Given the description of an element on the screen output the (x, y) to click on. 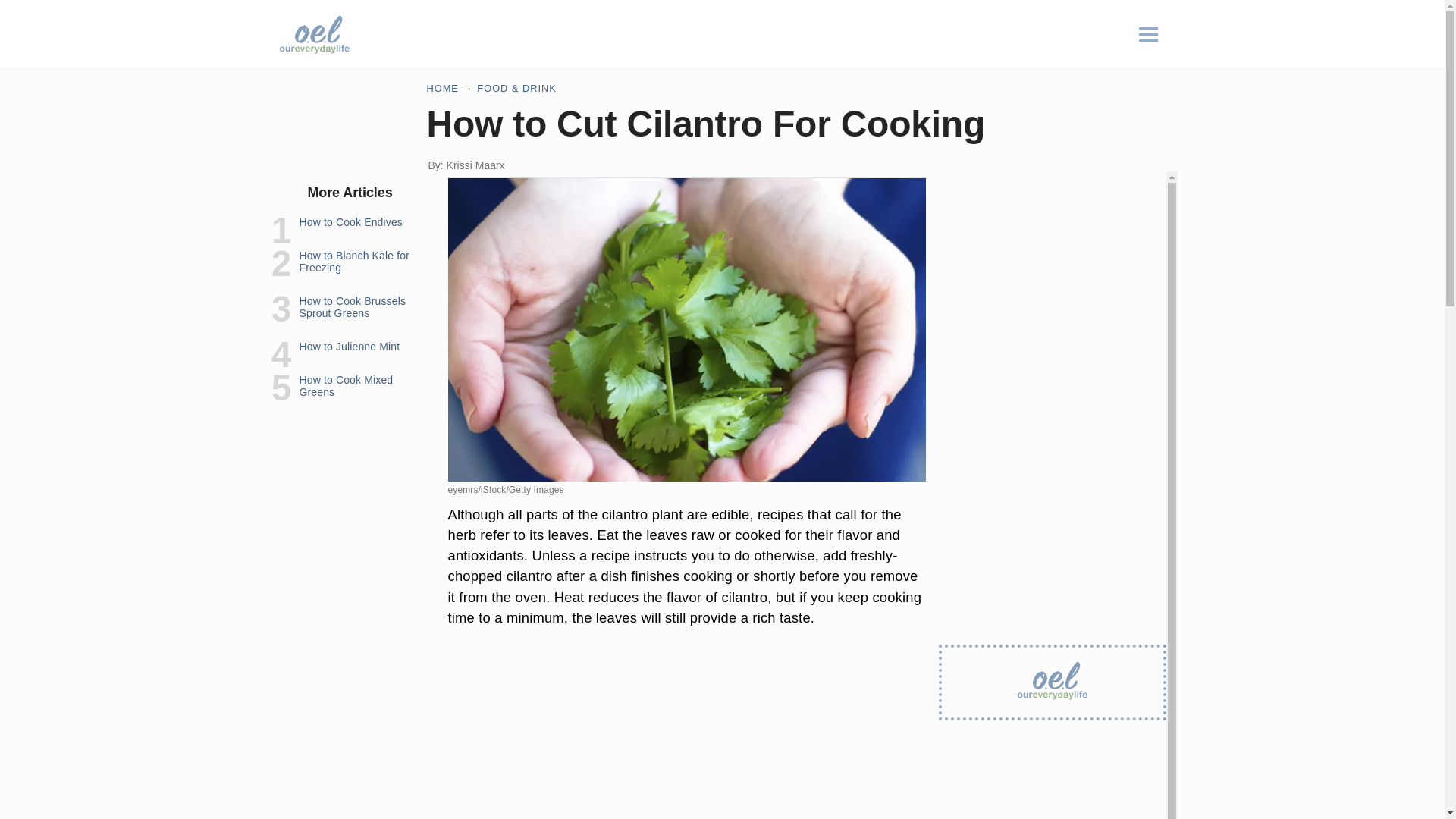
HOME (442, 88)
How to Cook Endives (350, 222)
How to Blanch Kale for Freezing (353, 261)
How to Cook Brussels Sprout Greens (352, 306)
How to Julienne Mint (348, 346)
How to Cook Mixed Greens (345, 385)
